Given the description of an element on the screen output the (x, y) to click on. 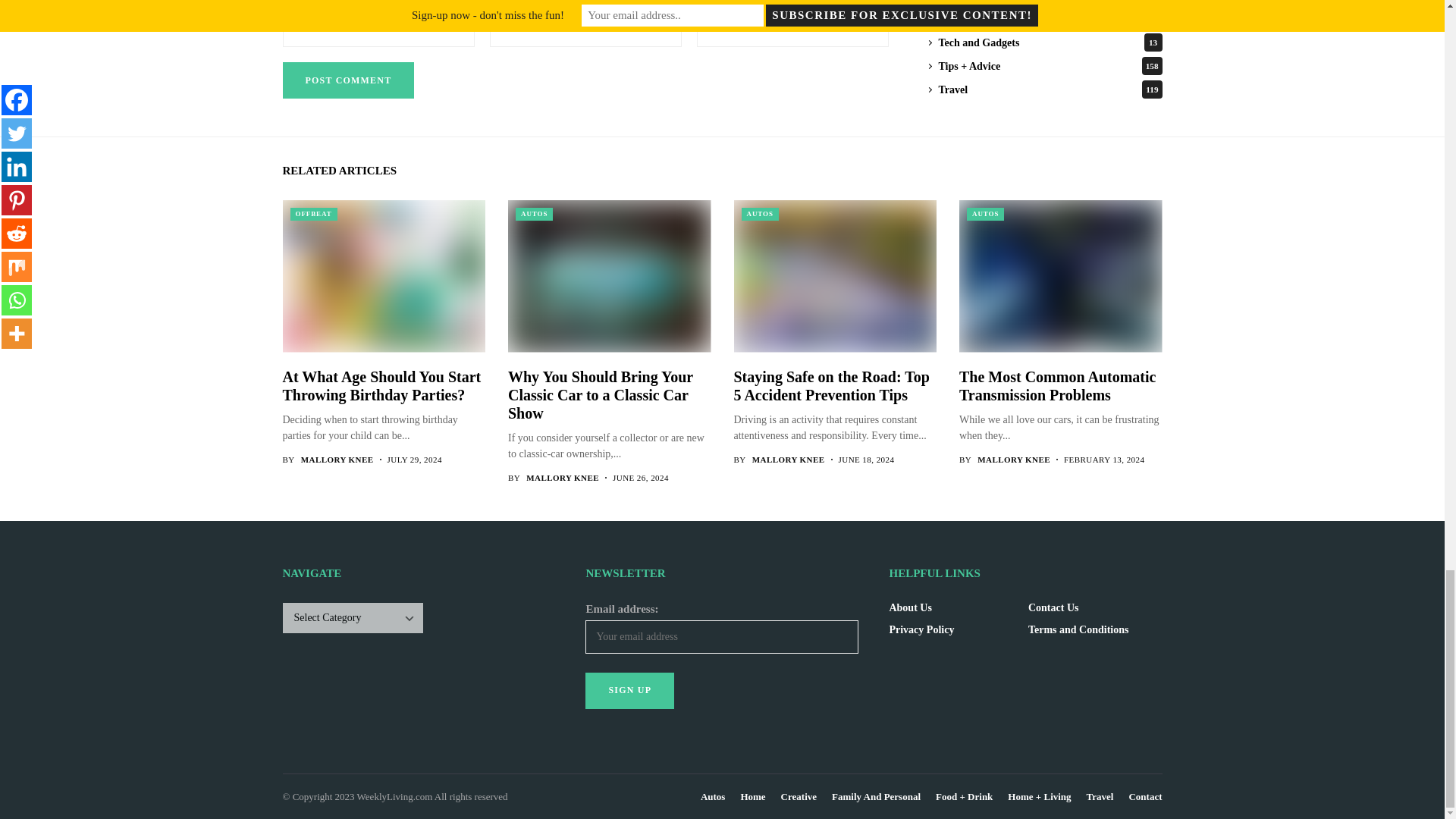
Post Comment (347, 80)
Posts by Mallory Knee (561, 478)
Posts by Mallory Knee (337, 460)
Sign up (629, 690)
Posts by Mallory Knee (788, 460)
